Given the description of an element on the screen output the (x, y) to click on. 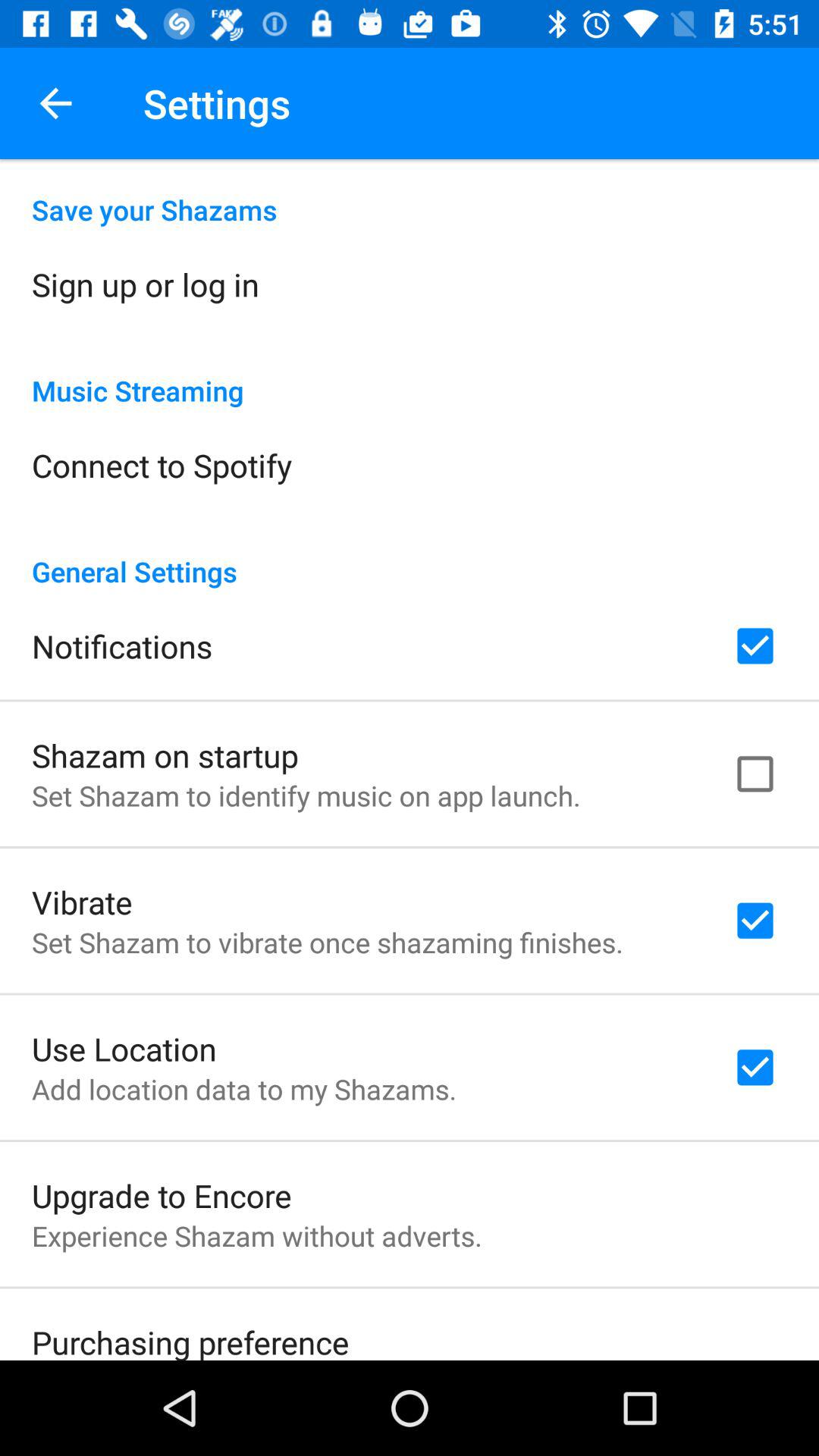
scroll to the general settings (409, 555)
